Given the description of an element on the screen output the (x, y) to click on. 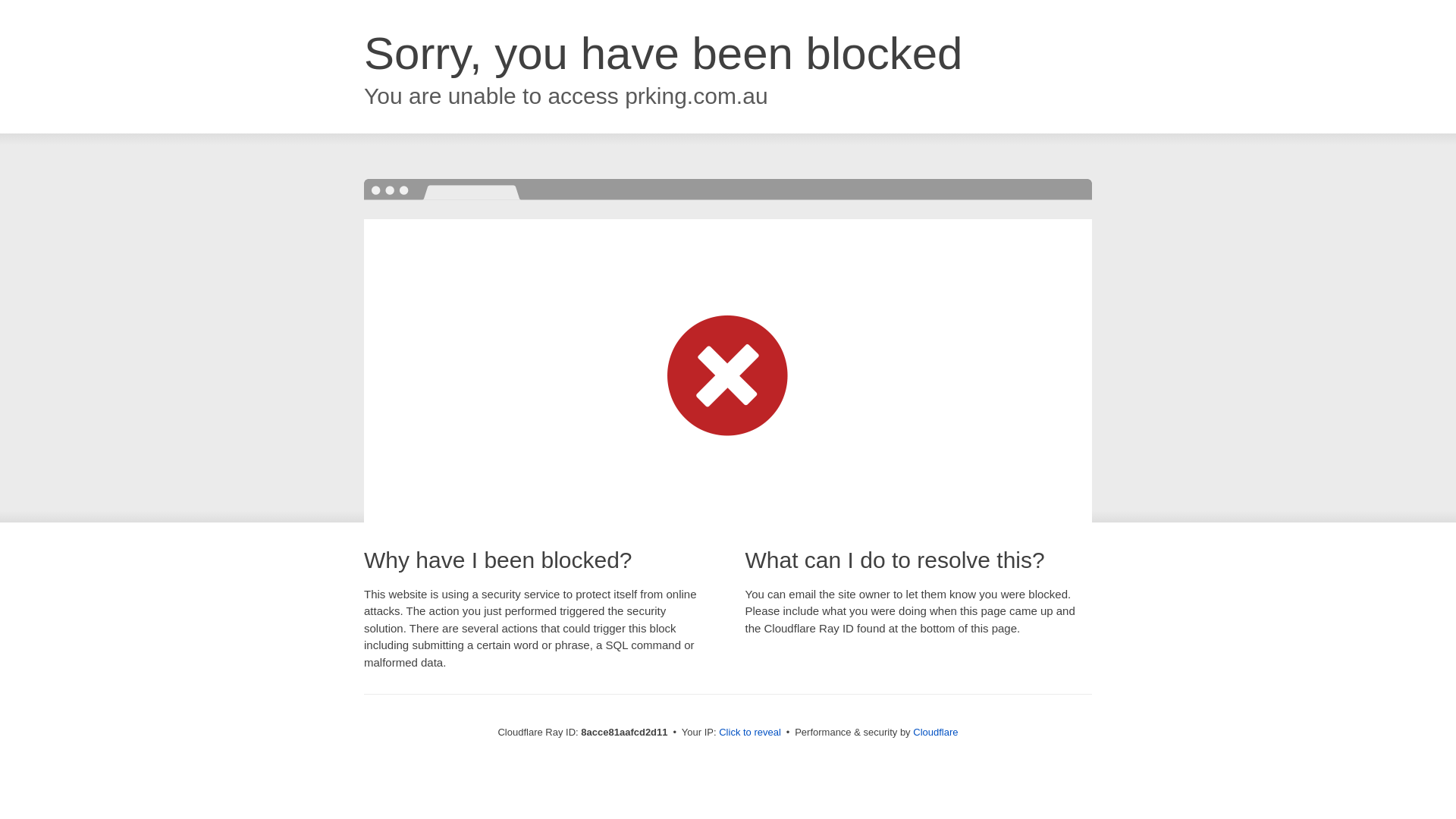
Click to reveal (749, 732)
Cloudflare (935, 731)
